Given the description of an element on the screen output the (x, y) to click on. 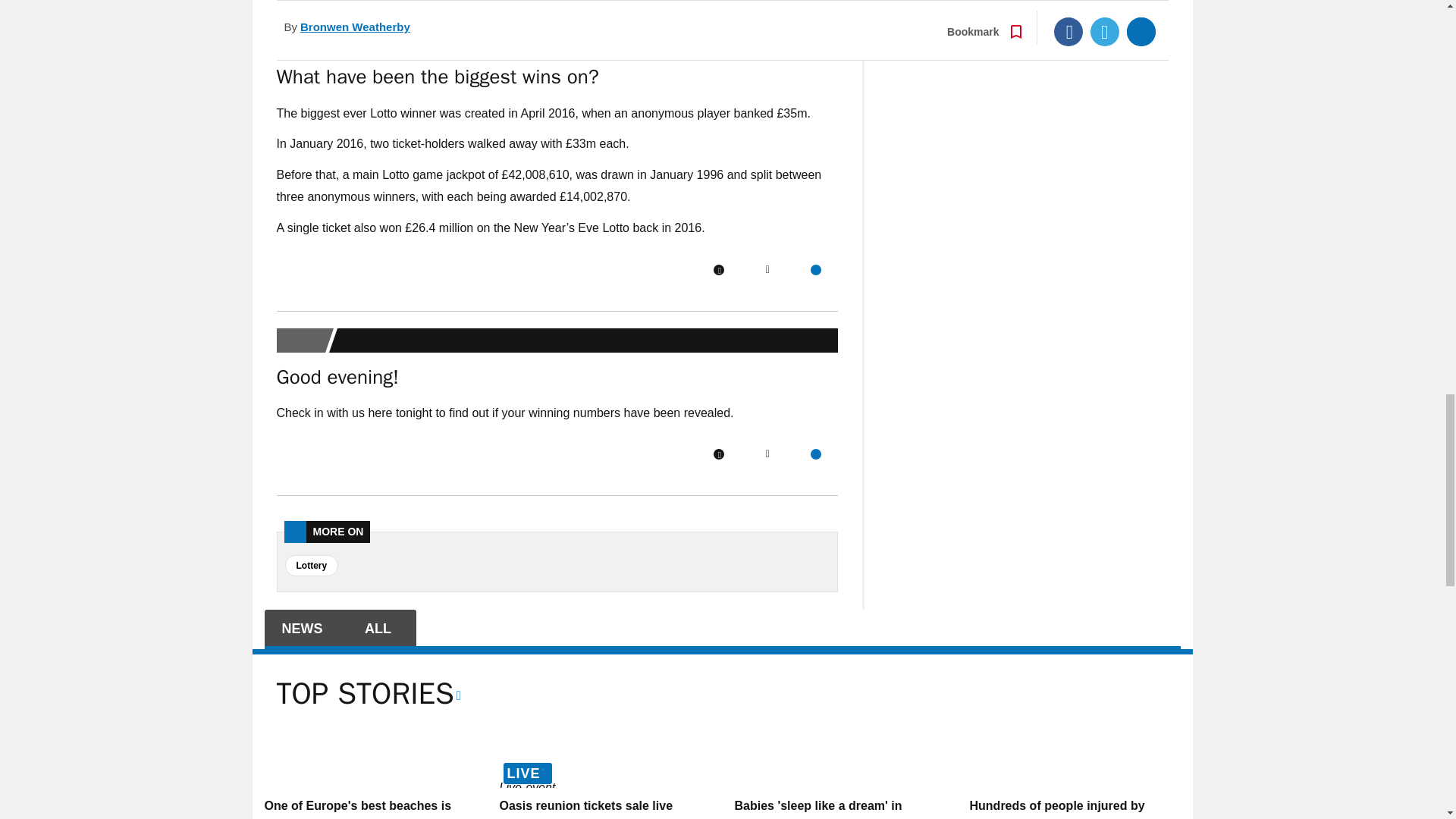
Twitter (767, 269)
Twitter (767, 453)
Facebook (718, 269)
Facebook (718, 453)
